Given the description of an element on the screen output the (x, y) to click on. 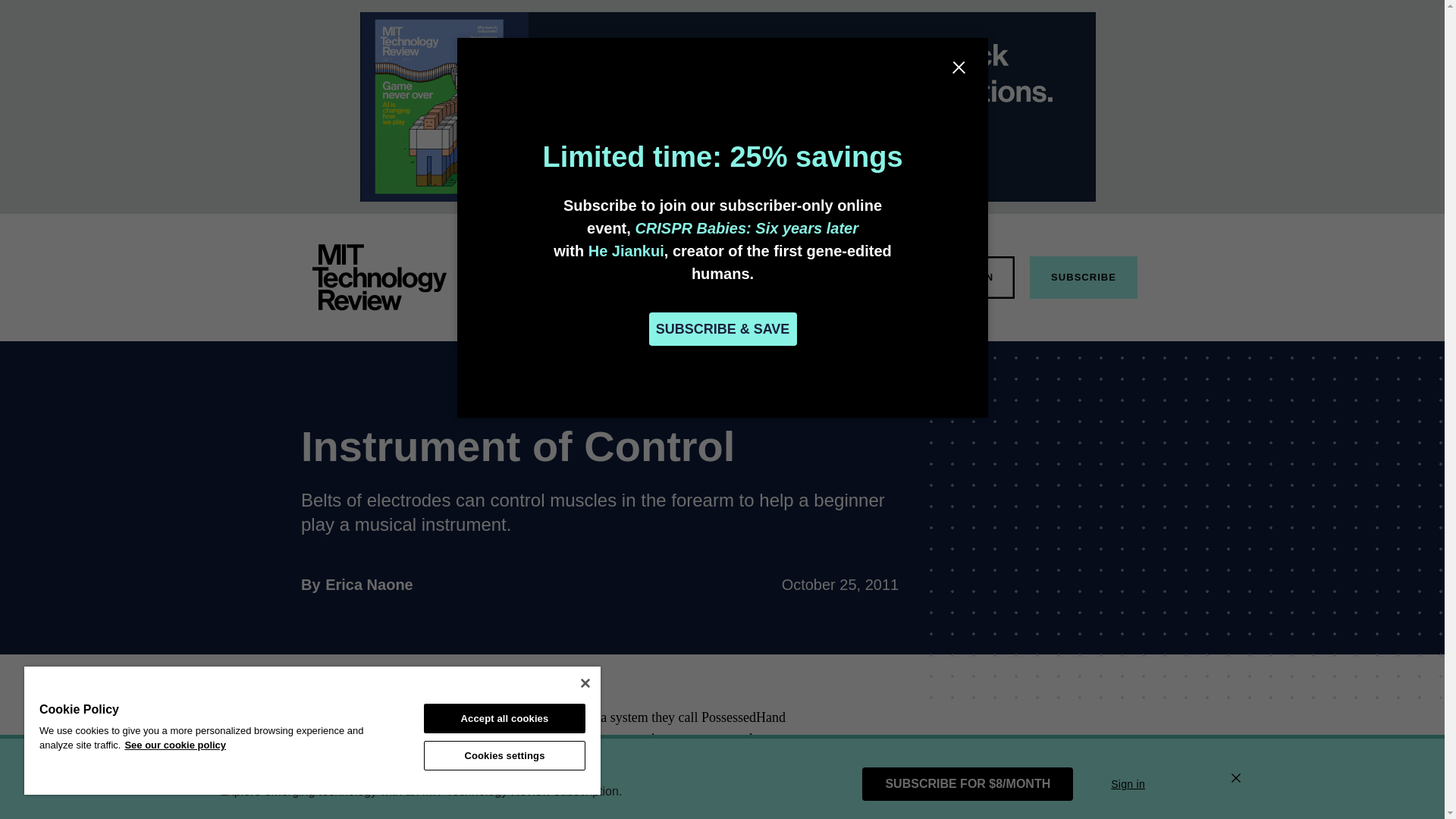
Featured (569, 275)
SIGN IN (972, 277)
Events (796, 275)
SUBSCRIBE (1083, 277)
Podcasts (868, 275)
Topics (639, 275)
3rd party ad content (368, 584)
3rd party ad content (1081, 751)
Newsletters (379, 277)
